Given the description of an element on the screen output the (x, y) to click on. 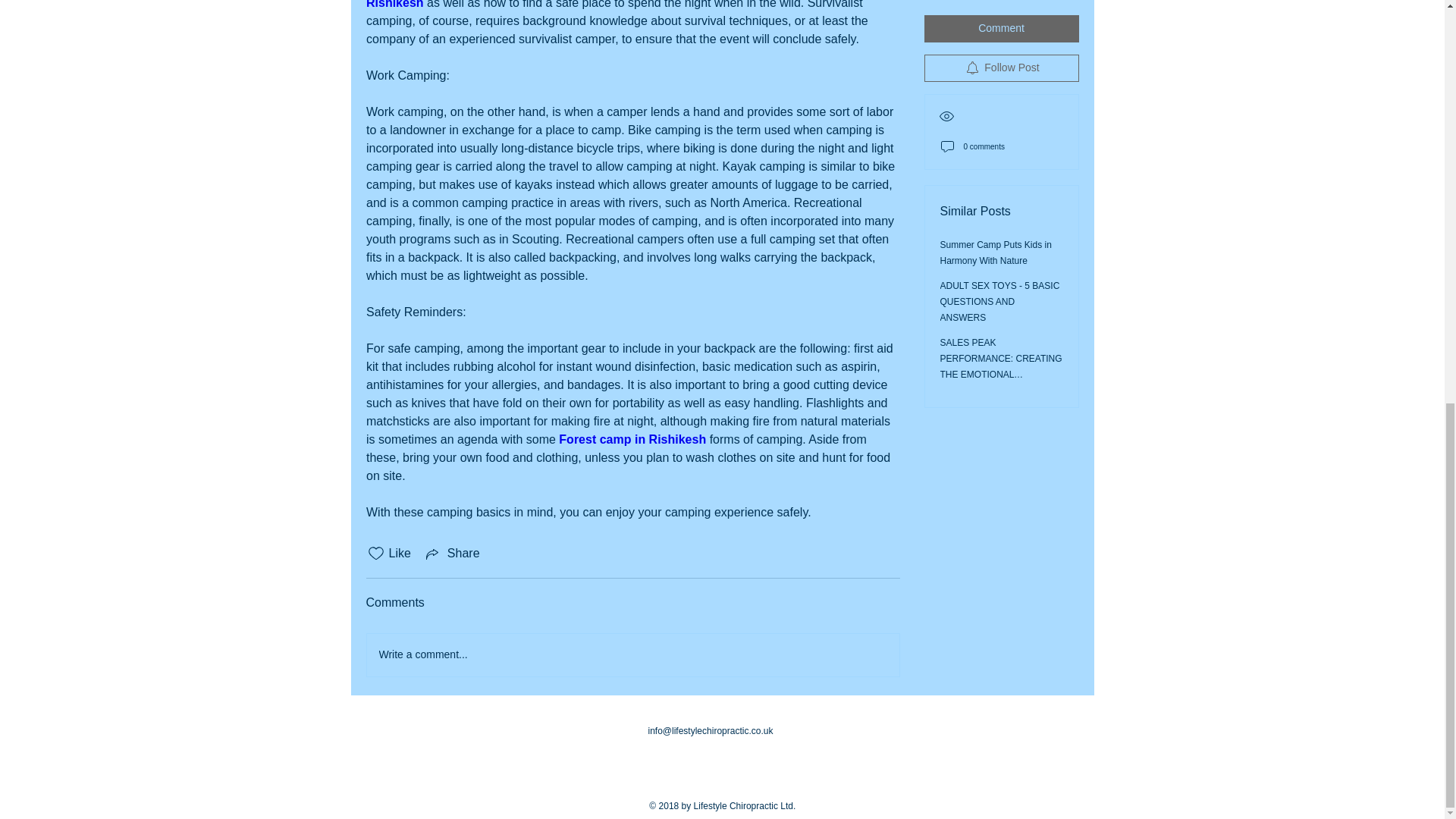
Write a comment... (632, 654)
Forest camp in Rishikesh (632, 439)
Forest Camping in Rishikesh (625, 4)
Share (451, 553)
